Given the description of an element on the screen output the (x, y) to click on. 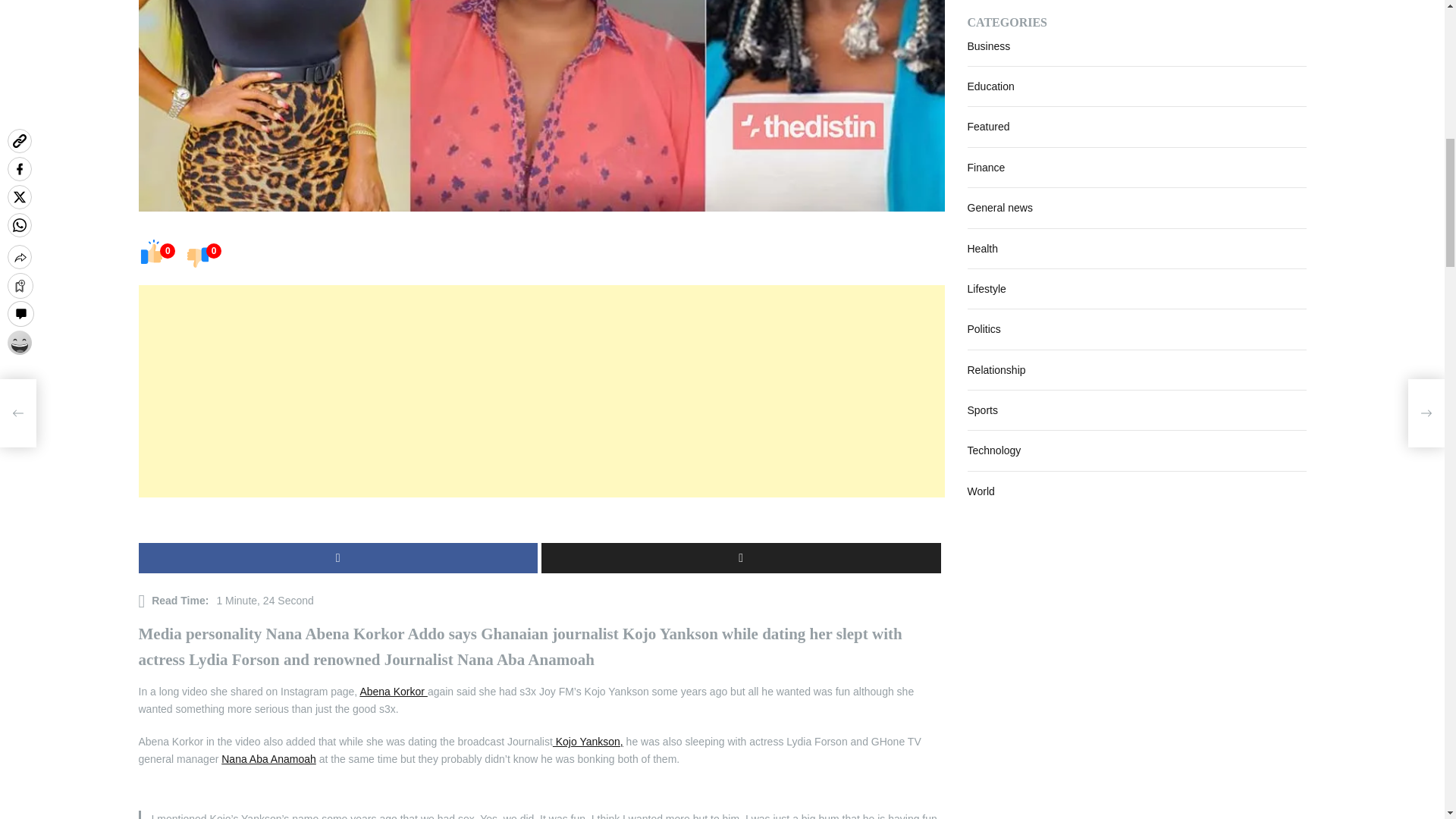
Vuukle Sharebar Widget (540, 520)
